Given the description of an element on the screen output the (x, y) to click on. 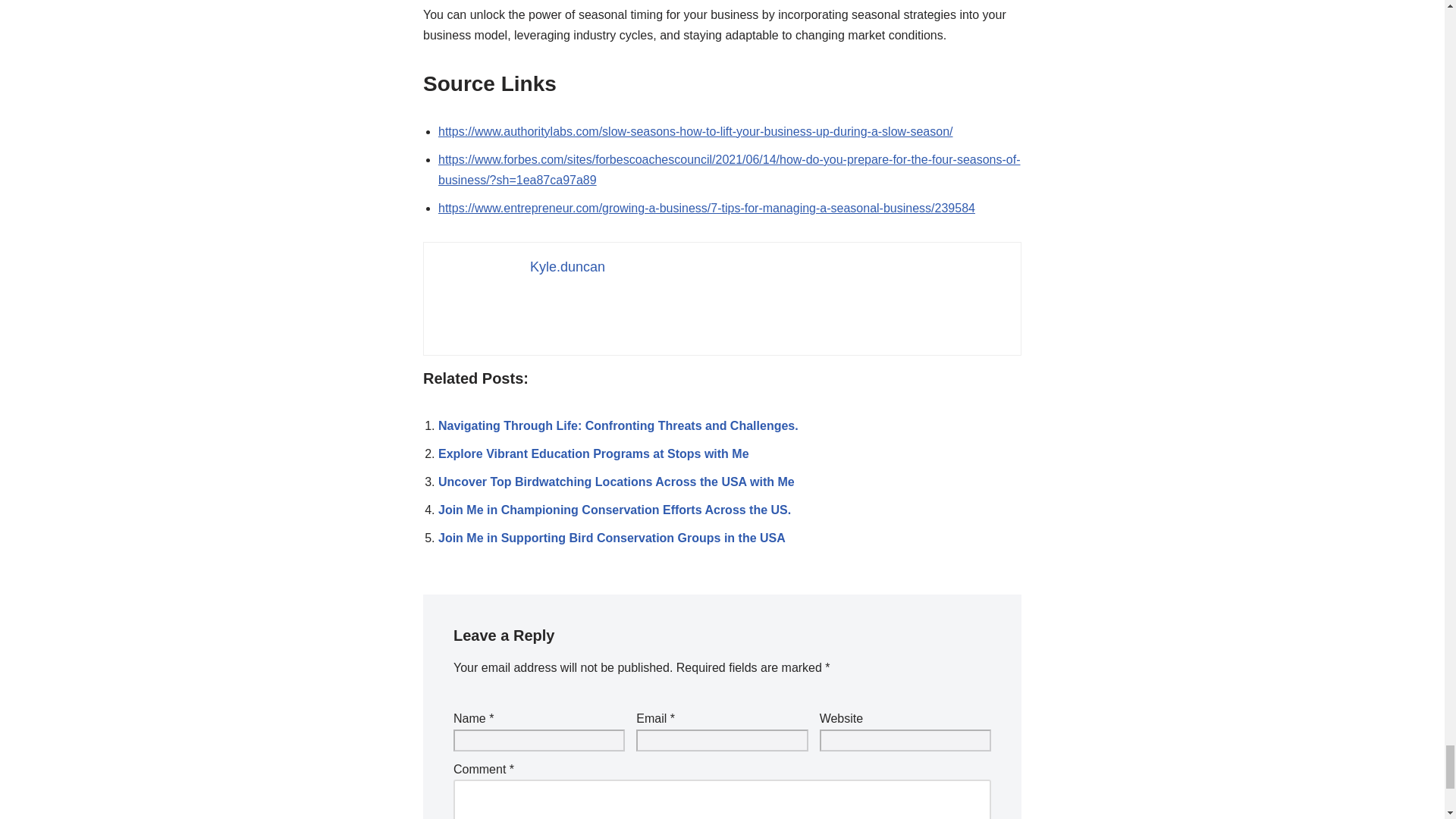
Join Me in Championing Conservation Efforts Across the US. (614, 509)
Kyle.duncan (567, 266)
Join Me in Supporting Bird Conservation Groups in the USA (612, 537)
Navigating Through Life: Confronting Threats and Challenges. (617, 425)
Join Me in Championing Conservation Efforts Across the US. (614, 509)
Uncover Top Birdwatching Locations Across the USA with Me (616, 481)
Uncover Top Birdwatching Locations Across the USA with Me (616, 481)
Explore Vibrant Education Programs at Stops with Me (593, 453)
Explore Vibrant Education Programs at Stops with Me (593, 453)
Join Me in Supporting Bird Conservation Groups in the USA (612, 537)
Navigating Through Life: Confronting Threats and Challenges. (617, 425)
